Given the description of an element on the screen output the (x, y) to click on. 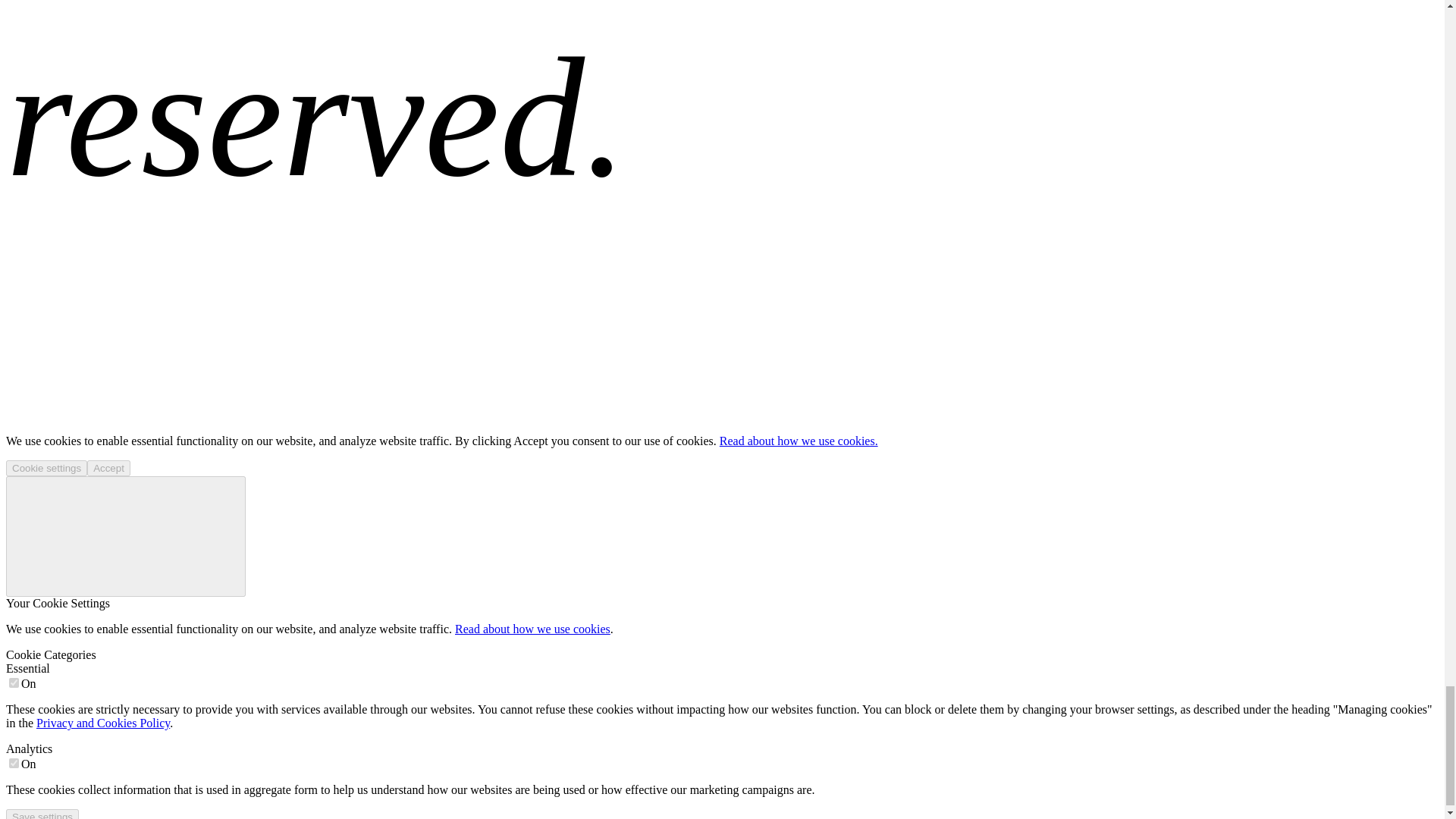
Read about how we use cookies (532, 628)
on (13, 682)
Read about how we use cookies. (798, 440)
on (13, 763)
Accept (109, 467)
Cookie settings (46, 467)
Privacy and Cookies Policy (103, 722)
